Given the description of an element on the screen output the (x, y) to click on. 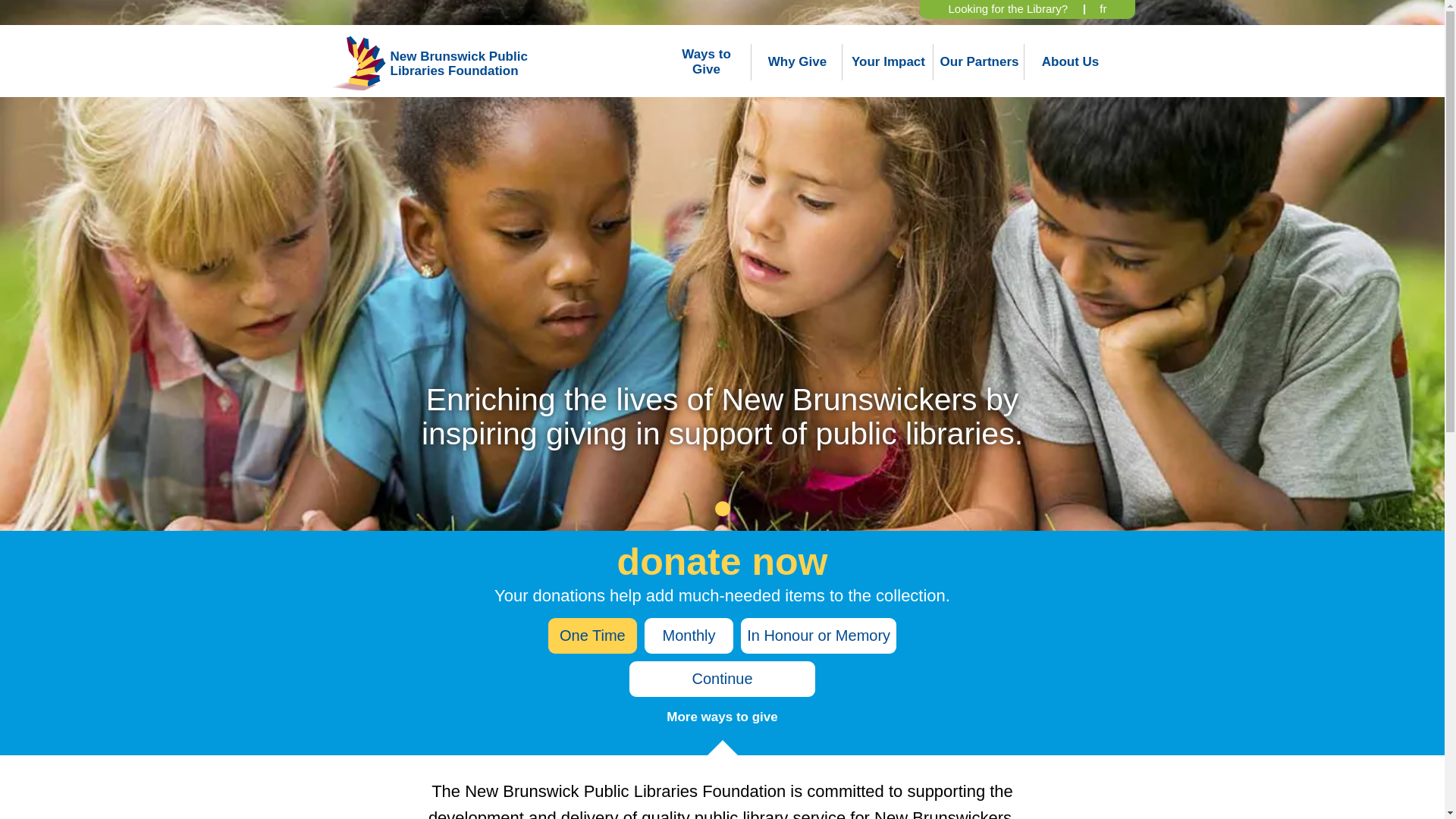
1 (721, 508)
Our Partners (979, 61)
One Time (592, 635)
In Honour or Memory (818, 635)
About Us (1070, 61)
More ways to give (721, 716)
Why Give (796, 61)
Looking for the Library? (1008, 8)
New Brunswick Public Libraries Foundation (465, 63)
Your Impact (887, 61)
Continue (721, 678)
Monthly (689, 635)
Ways to Give (706, 62)
